Given the description of an element on the screen output the (x, y) to click on. 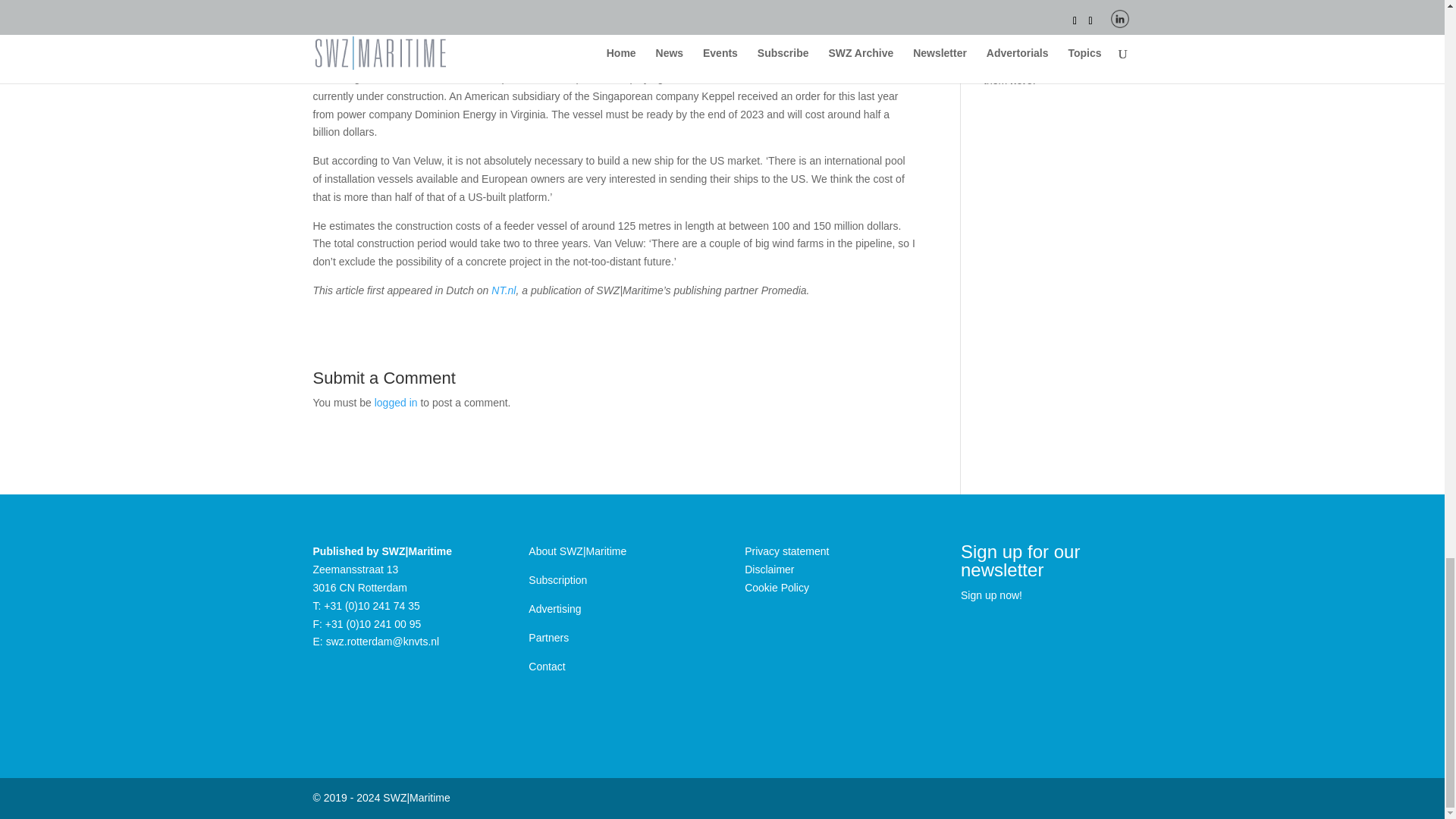
logged in (395, 402)
here (1021, 79)
NT.nl (503, 290)
